Given the description of an element on the screen output the (x, y) to click on. 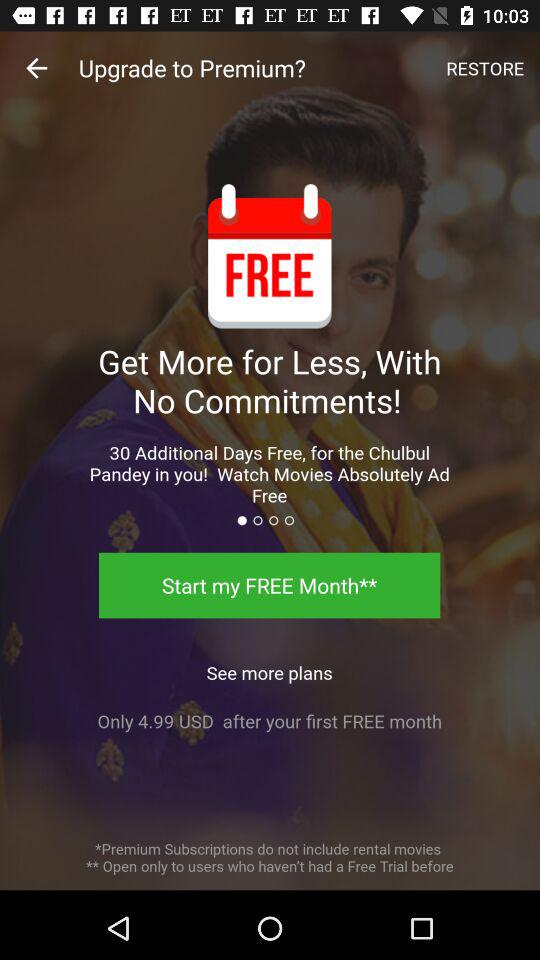
tap icon next to upgrade to premium? app (485, 67)
